Given the description of an element on the screen output the (x, y) to click on. 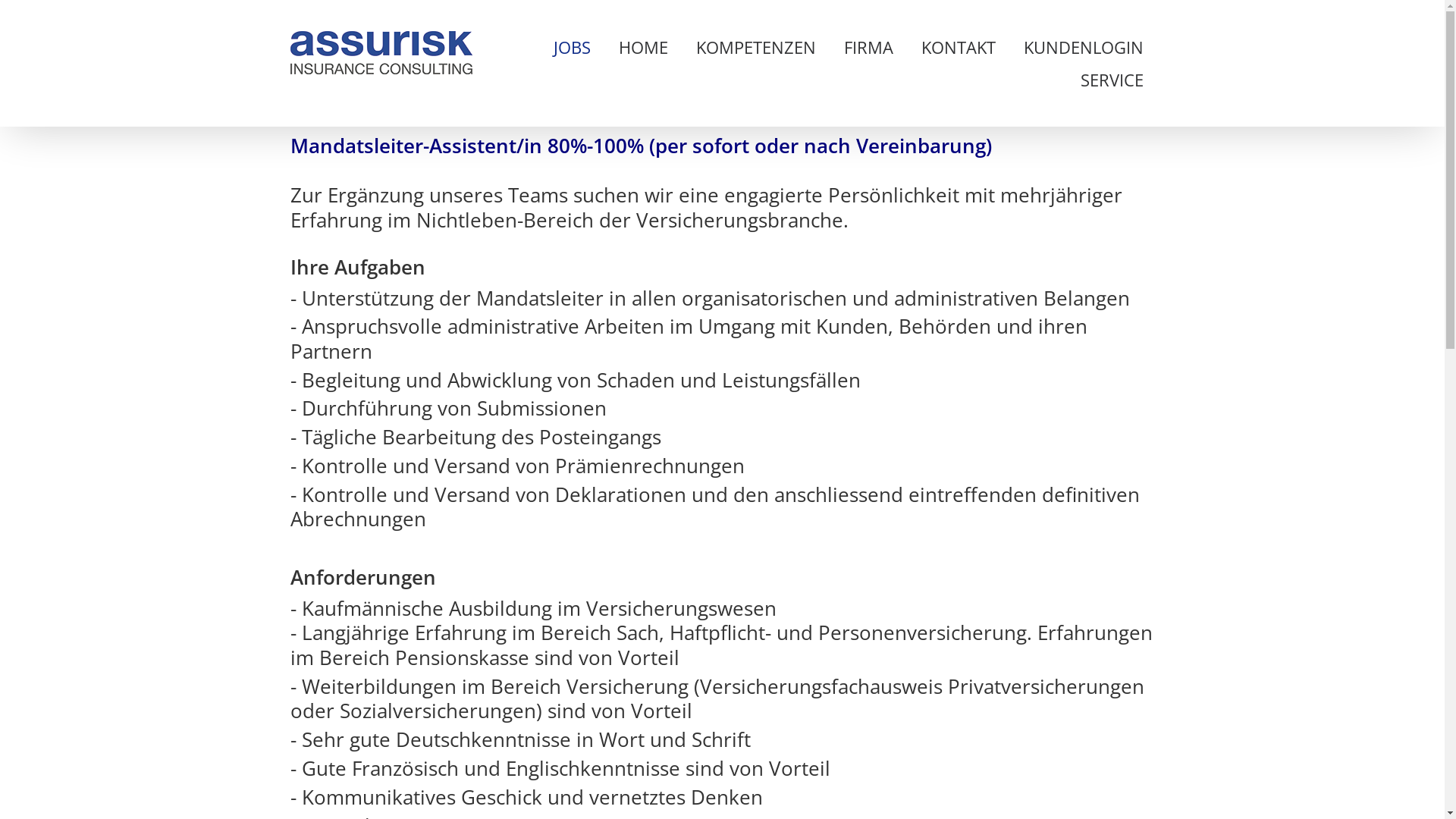
KONTAKT Element type: text (958, 47)
KUNDENLOGIN Element type: text (1082, 47)
KOMPETENZEN Element type: text (755, 47)
HOME Element type: text (642, 47)
SERVICE Element type: text (1111, 79)
FIRMA Element type: text (868, 47)
JOBS Element type: text (571, 47)
